Given the description of an element on the screen output the (x, y) to click on. 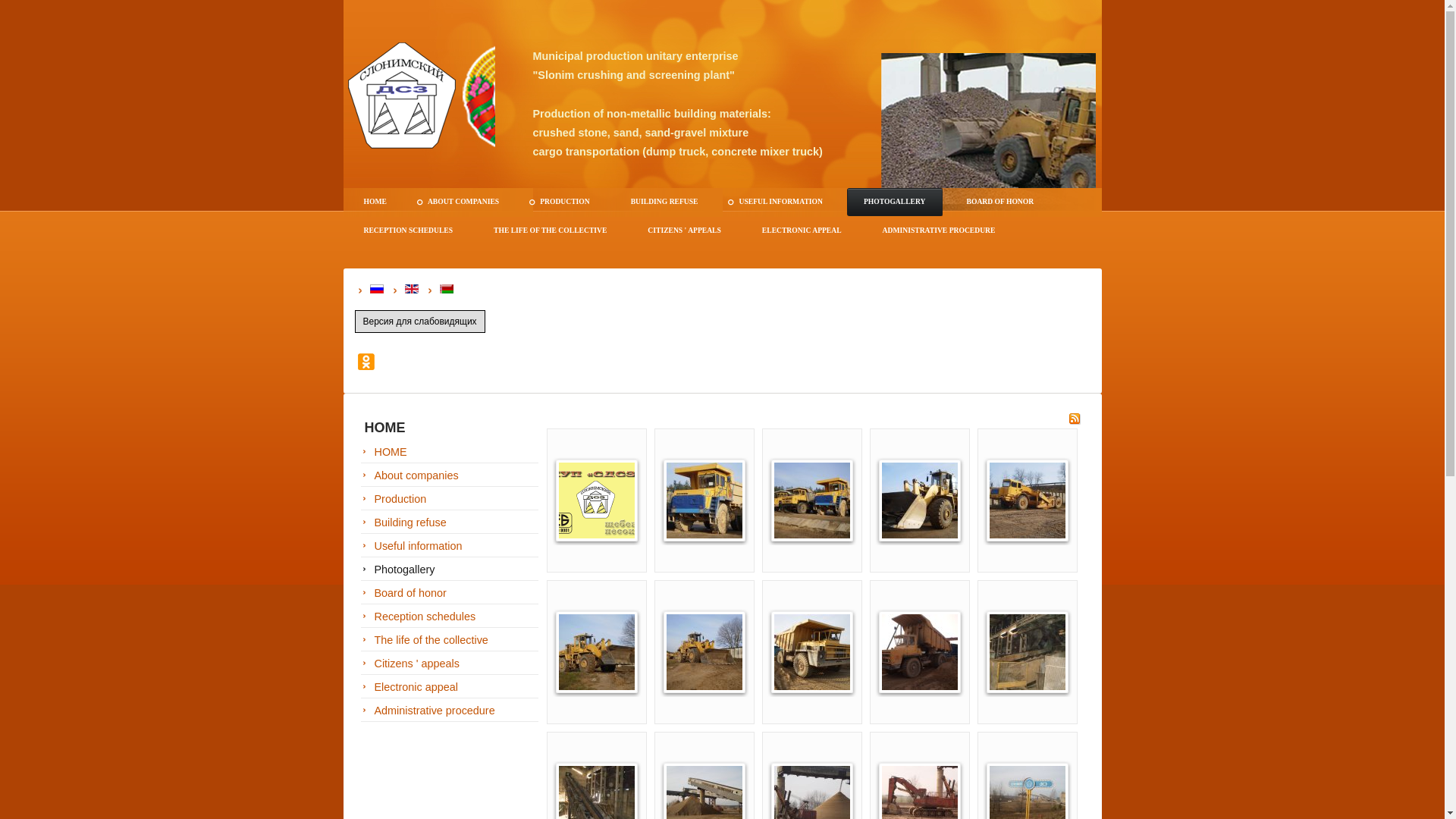
ADMINISTRATIVE PROCEDURE Element type: text (939, 230)
Photogallery Element type: text (450, 569)
PHOTOGALLERY Element type: text (894, 202)
THE LIFE OF THE COLLECTIVE Element type: text (549, 230)
ABOUT COMPANIES Element type: text (463, 202)
BOARD OF HONOR Element type: text (1000, 202)
Reception schedules Element type: text (450, 616)
English (UK) Element type: hover (411, 288)
USEFUL INFORMATION Element type: text (779, 202)
About companies Element type: text (450, 475)
RECEPTION SCHEDULES Element type: text (408, 230)
Building refuse Element type: text (450, 522)
HOME Element type: text (450, 452)
CITIZENS ' APPEALS Element type: text (683, 230)
Board of honor Element type: text (450, 593)
ELECTRONIC APPEAL Element type: text (801, 230)
RSS Element type: hover (1073, 421)
Useful information Element type: text (450, 546)
Production Element type: text (450, 499)
HOME Element type: text (375, 202)
PRODUCTION Element type: text (564, 202)
Citizens ' appeals Element type: text (450, 663)
BUILDING REFUSE Element type: text (664, 202)
The life of the collective Element type: text (450, 640)
Administrative procedure Element type: text (450, 710)
Electronic appeal Element type: text (450, 687)
